Given the description of an element on the screen output the (x, y) to click on. 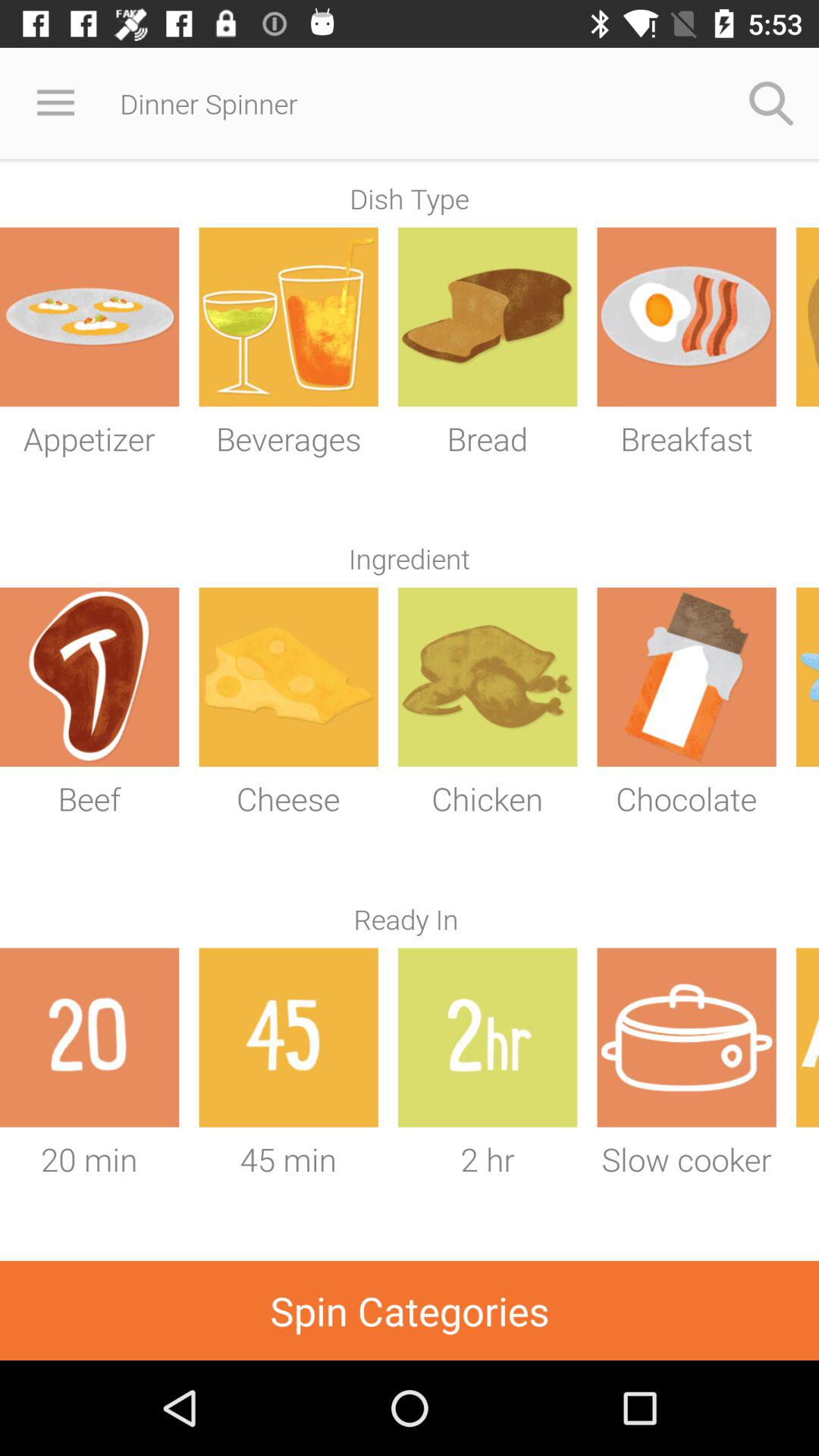
select the item to the right of dinner spinner (771, 103)
